Given the description of an element on the screen output the (x, y) to click on. 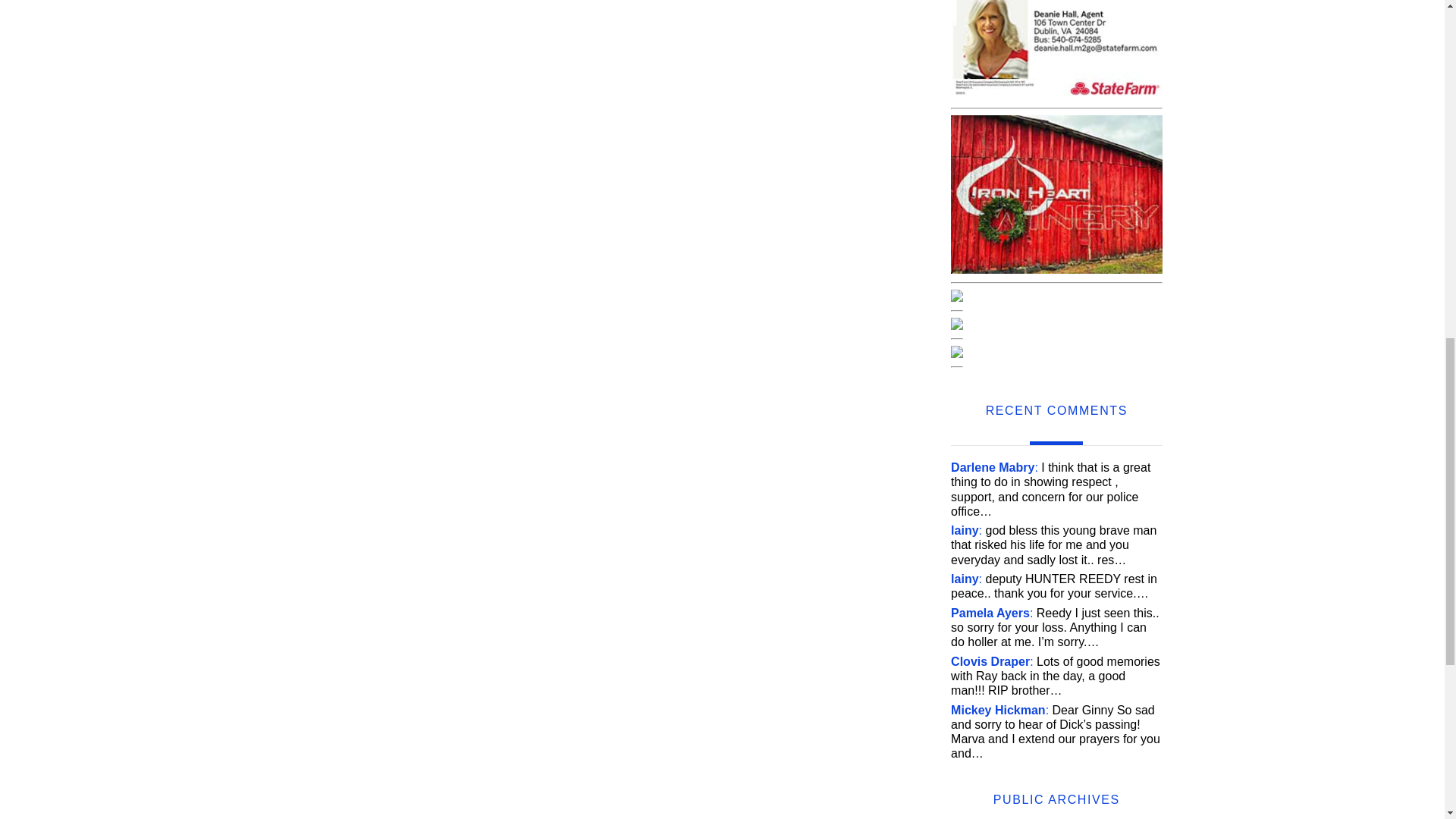
Clovis Draper: (991, 661)
lainy: (965, 530)
Mickey Hickman: (999, 709)
lainy: (965, 578)
Pamela Ayers: (991, 612)
Darlene Mabry: (994, 467)
